Given the description of an element on the screen output the (x, y) to click on. 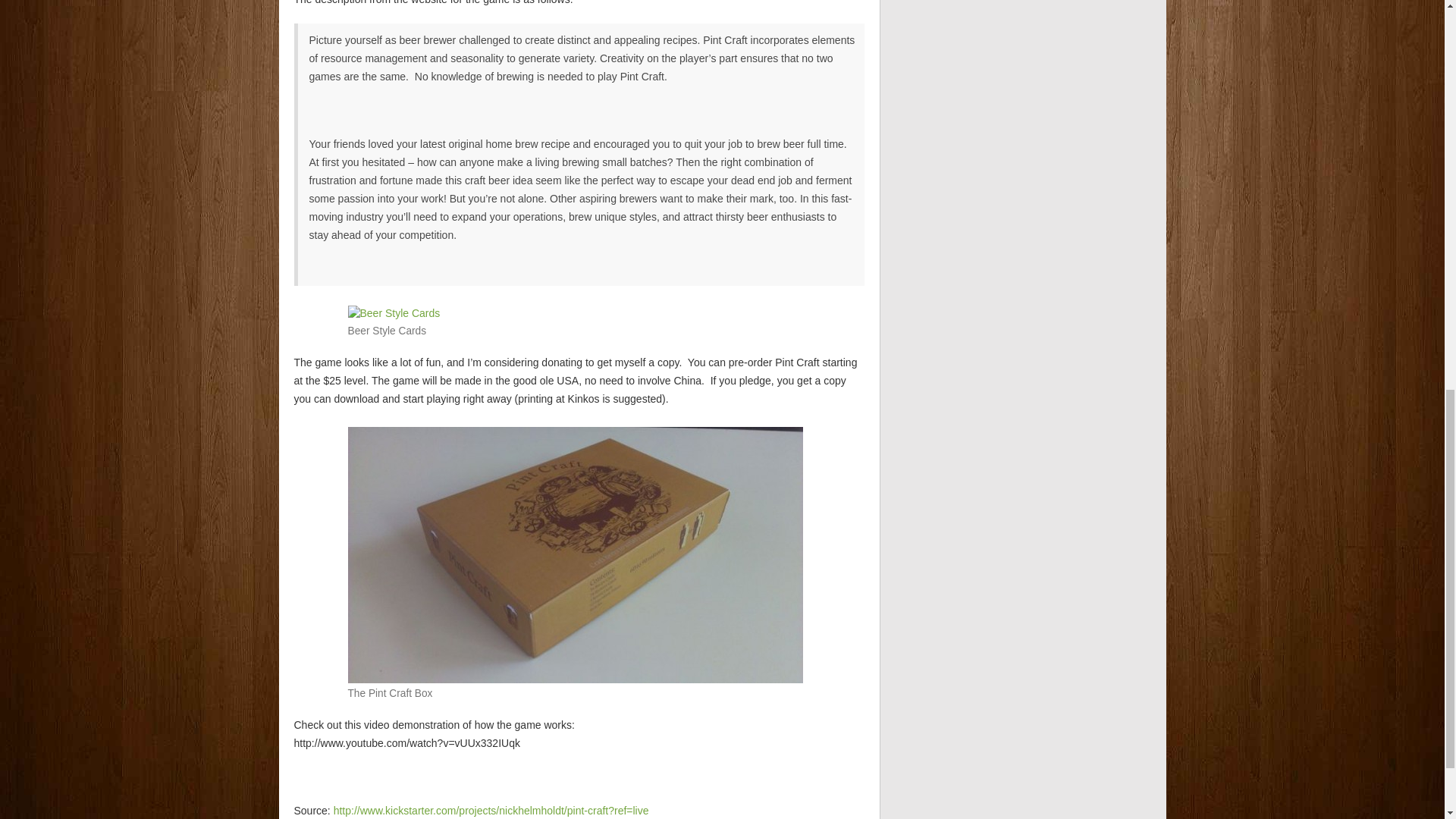
The Pint Craft Box (574, 553)
The Pint Craft Box (574, 554)
Beer Style Cards (393, 313)
Beer Style Cards (393, 312)
